Given the description of an element on the screen output the (x, y) to click on. 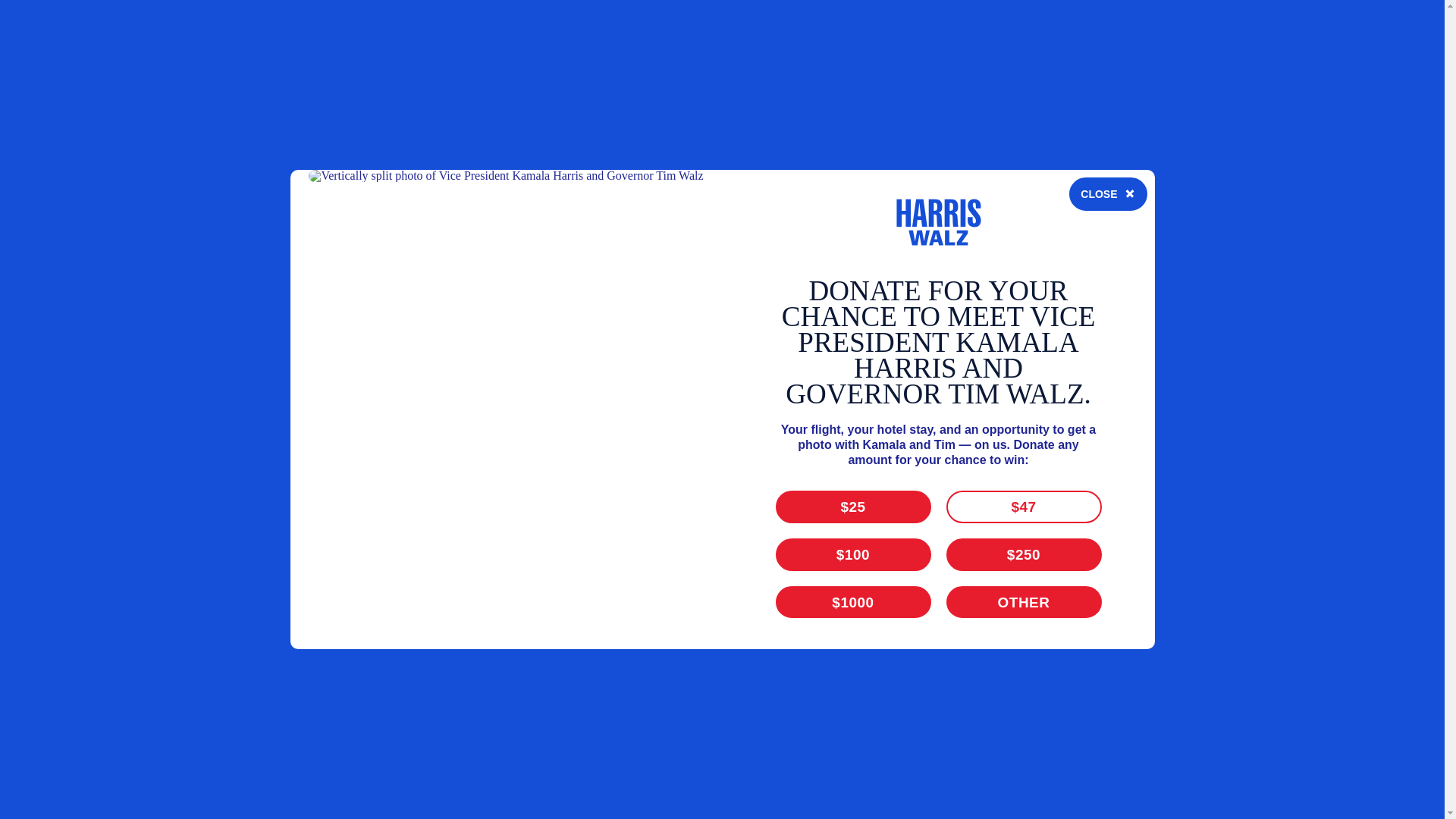
Store (1057, 226)
Meet Kamala Harris (720, 226)
Meet Tim Walz (839, 226)
Events (1005, 226)
DONATE (1154, 225)
OTHER (1049, 61)
Take Action (934, 226)
